Given the description of an element on the screen output the (x, y) to click on. 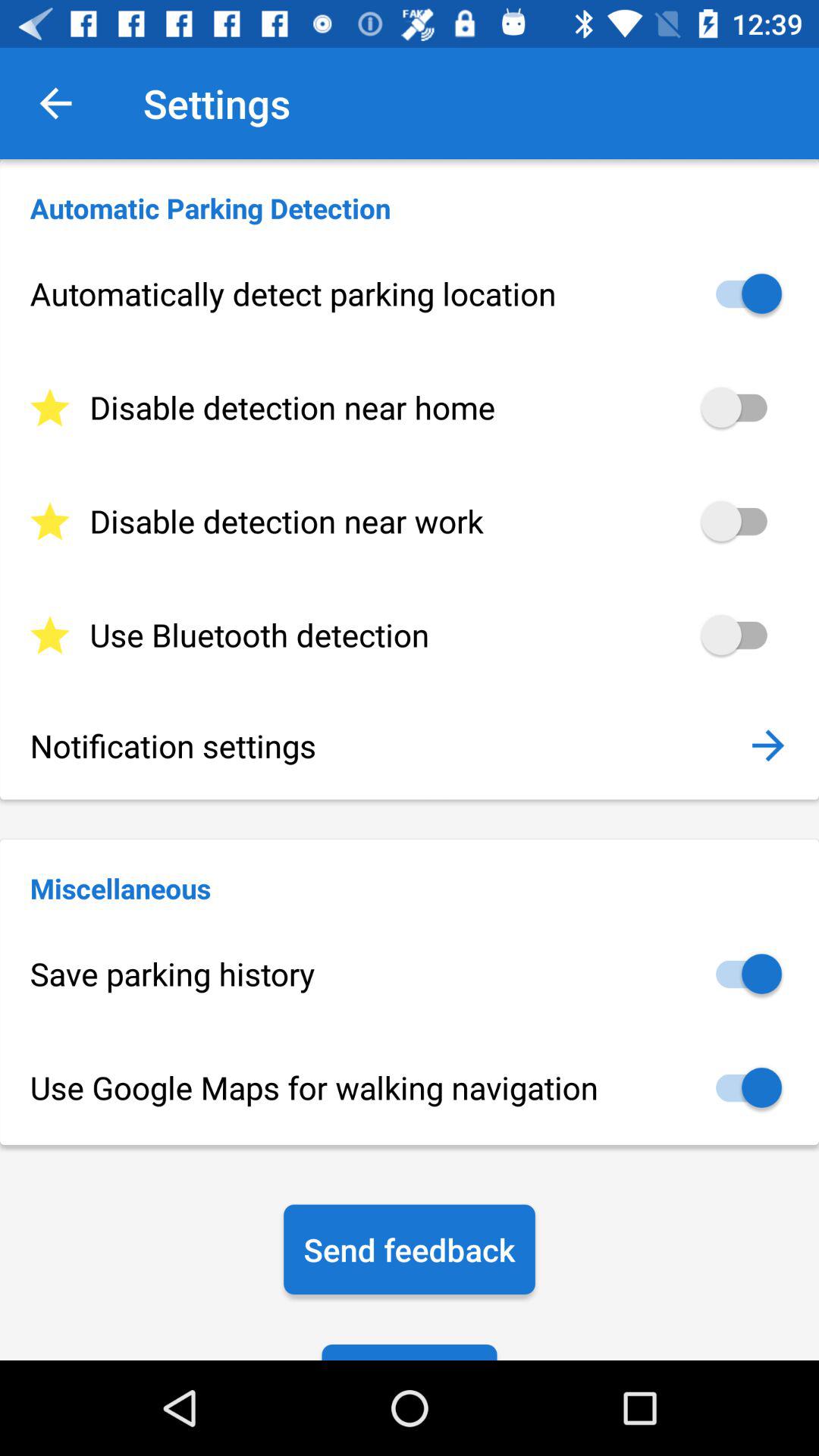
turn on the automatically detect parking icon (409, 293)
